Given the description of an element on the screen output the (x, y) to click on. 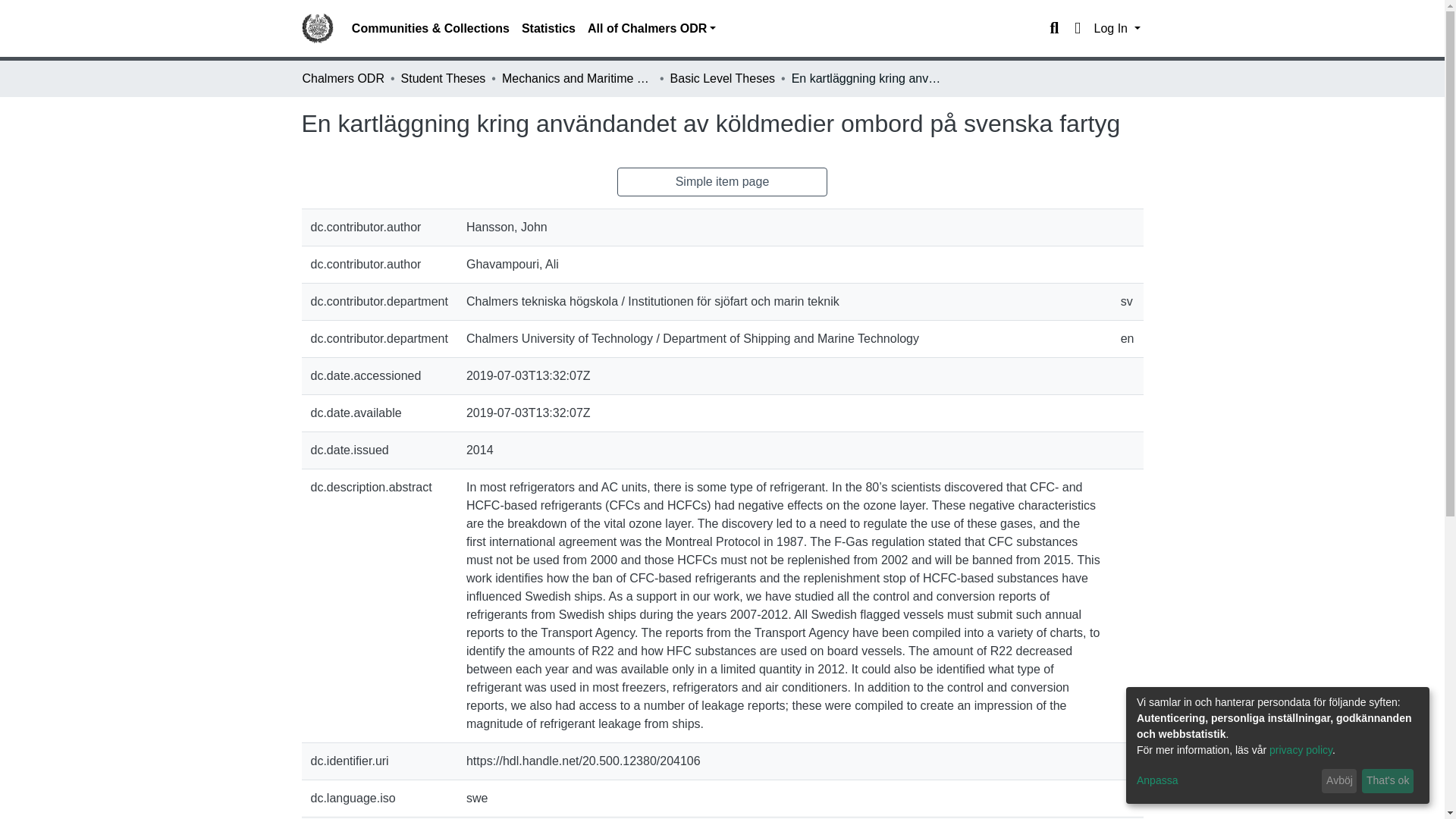
privacy policy (1300, 749)
Statistics (547, 28)
Log In (1116, 28)
Student Theses (443, 78)
Language switch (1077, 28)
Chalmers ODR (342, 78)
Anpassa (1226, 780)
Basic Level Theses (721, 78)
Simple item page (722, 181)
Statistics (547, 28)
Search (1053, 28)
All of Chalmers ODR (651, 28)
That's ok (1387, 781)
